Given the description of an element on the screen output the (x, y) to click on. 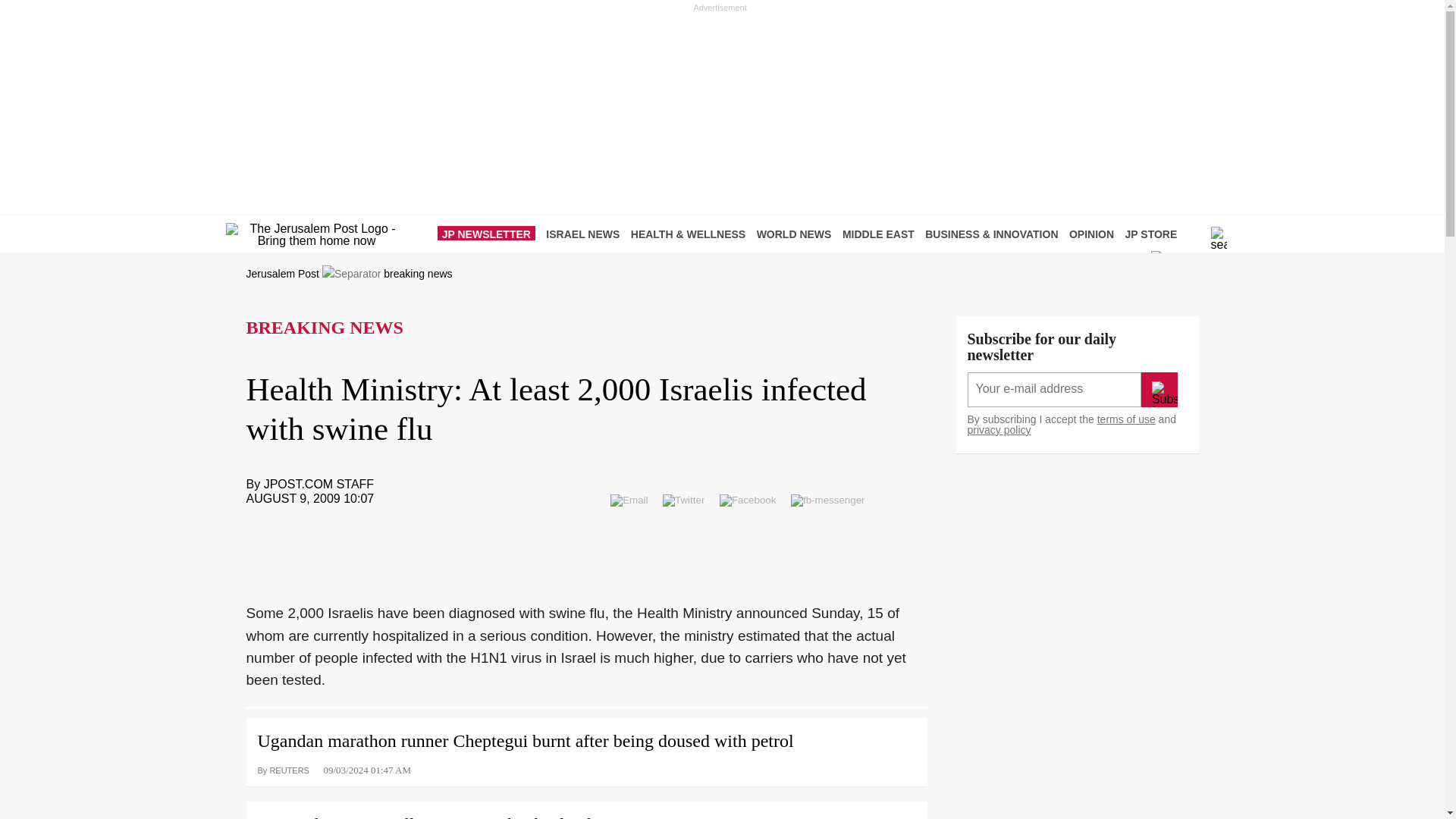
Jerusalem Post (282, 273)
IAF strikes terror cell in West Bank who fired at IDF troops (586, 810)
ISRAEL NEWS (586, 234)
Jerusalem Post (282, 273)
MIDDLE EAST (882, 234)
breaking news (417, 273)
breaking news (417, 273)
The Jerusalem Post Logo - Bring them home now (316, 234)
